Given the description of an element on the screen output the (x, y) to click on. 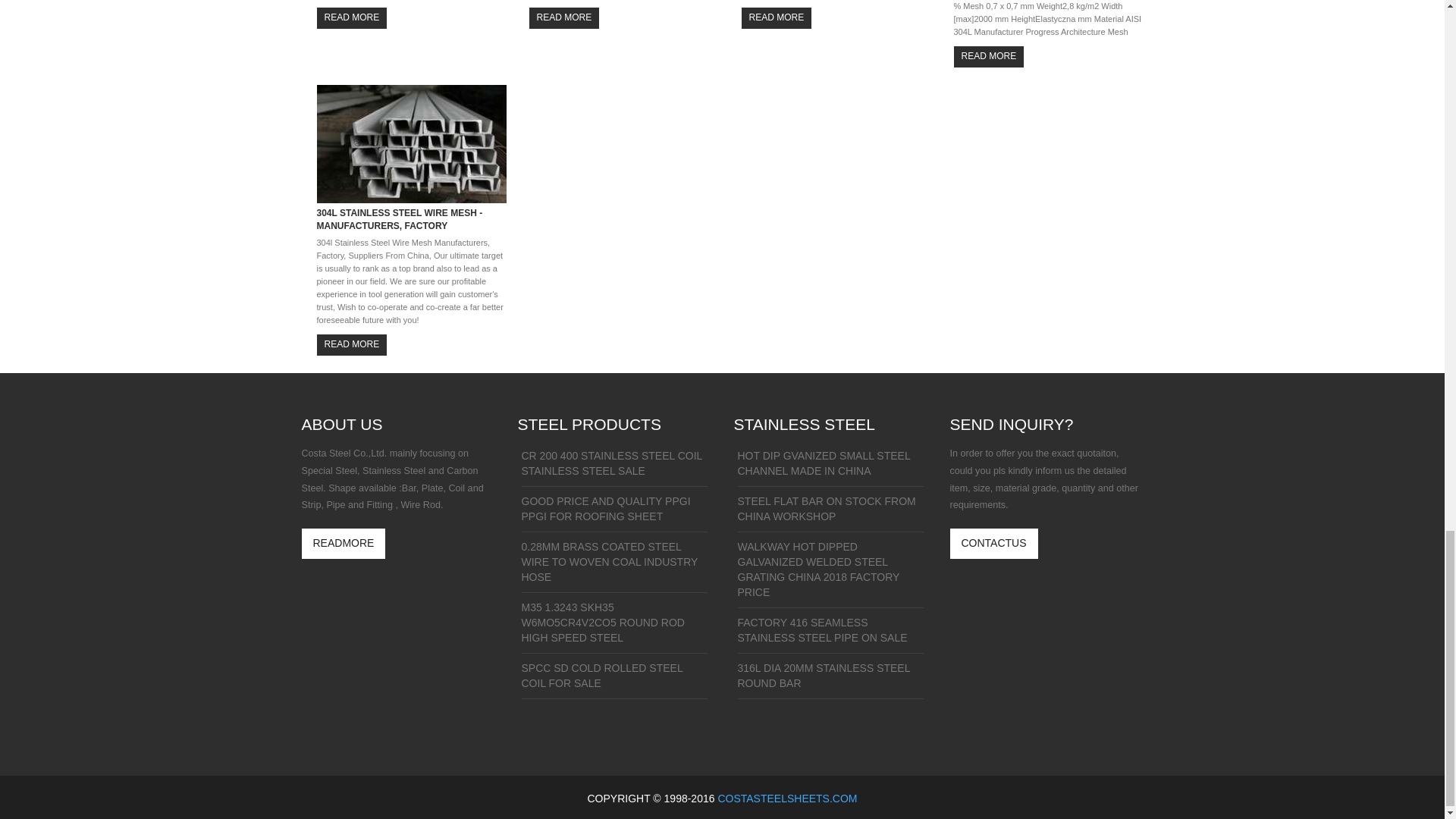
READ MORE (352, 17)
M35 1.3243 SKH35 W6MO5CR4V2CO5 ROUND ROD HIGH SPEED STEEL (614, 626)
READ MORE (989, 55)
READ MORE (564, 17)
READMORE (343, 543)
GOOD PRICE AND QUALITY PPGI PPGI FOR ROOFING SHEET (614, 513)
SPCC SD COLD ROLLED STEEL COIL FOR SALE (614, 679)
CR 200 400 STAINLESS STEEL COIL STAINLESS STEEL SALE (614, 467)
0.28MM BRASS COATED STEEL WIRE TO WOVEN COAL INDUSTRY HOSE (614, 565)
READ MORE (776, 17)
